Given the description of an element on the screen output the (x, y) to click on. 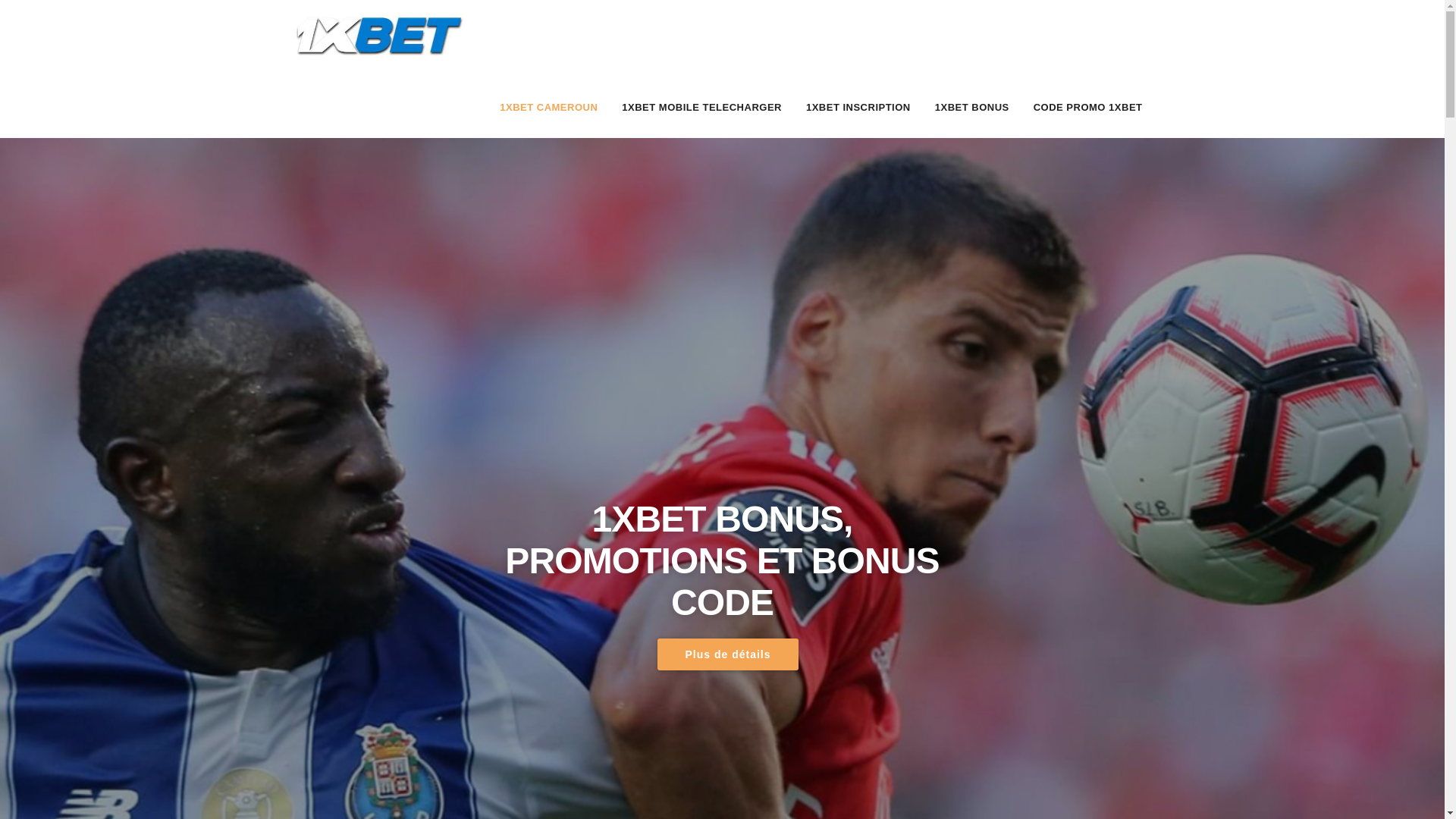
1XBET CAMEROUN Element type: text (548, 107)
1XBET BONUS Element type: text (971, 107)
CODE PROMO 1XBET Element type: text (1087, 107)
1XBET INSCRIPTION Element type: text (857, 107)
1XBET MOBILE TELECHARGER Element type: text (701, 107)
